Given the description of an element on the screen output the (x, y) to click on. 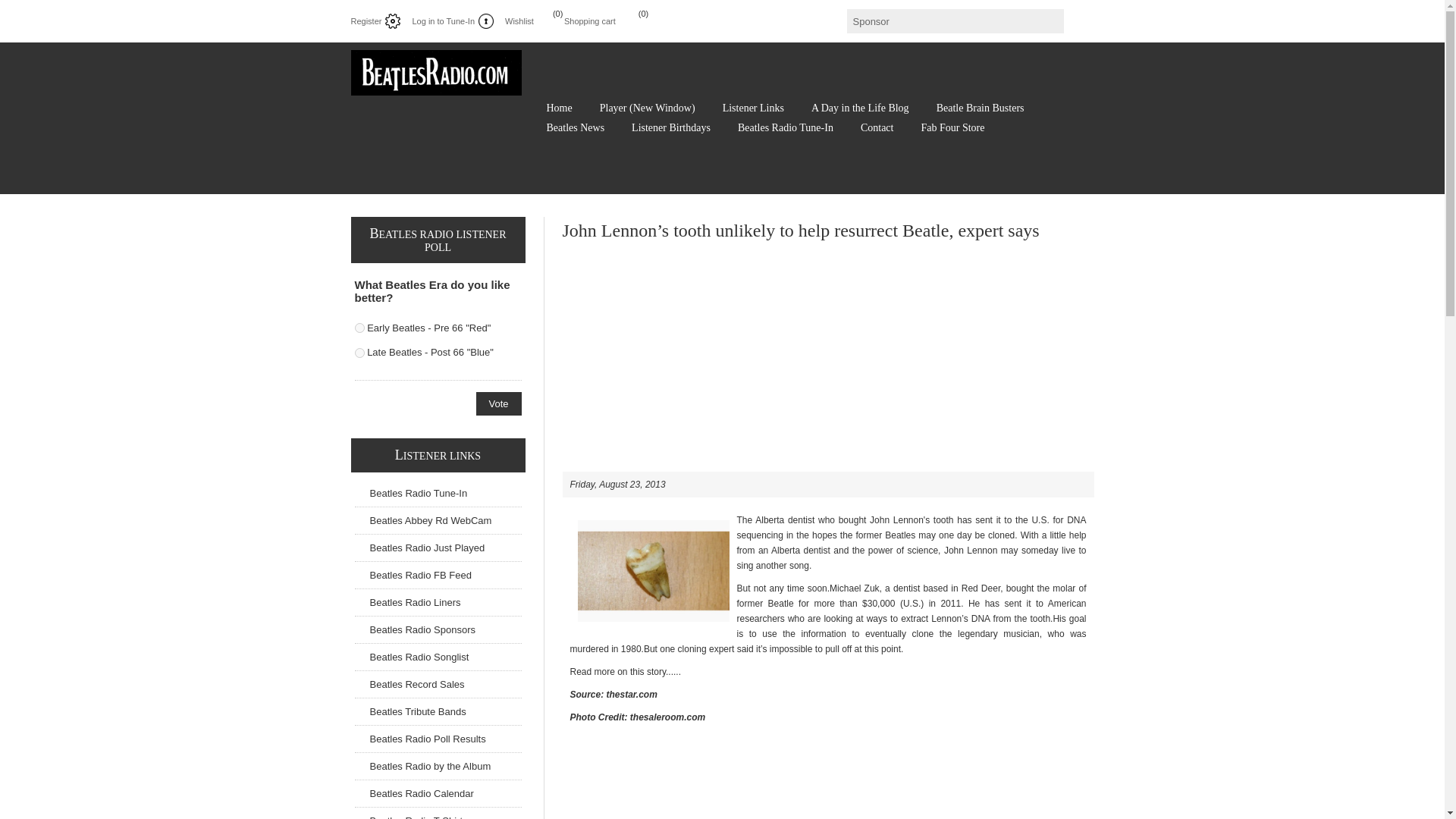
Log in to Tune-In (452, 21)
Beatles News (575, 127)
Register (375, 21)
Vote (498, 403)
1156 (360, 352)
1155 (360, 327)
Search (1048, 21)
Listener Birthdays (670, 127)
Beatle Brain Busters (980, 107)
A Day in the Life Blog (859, 107)
